Given the description of an element on the screen output the (x, y) to click on. 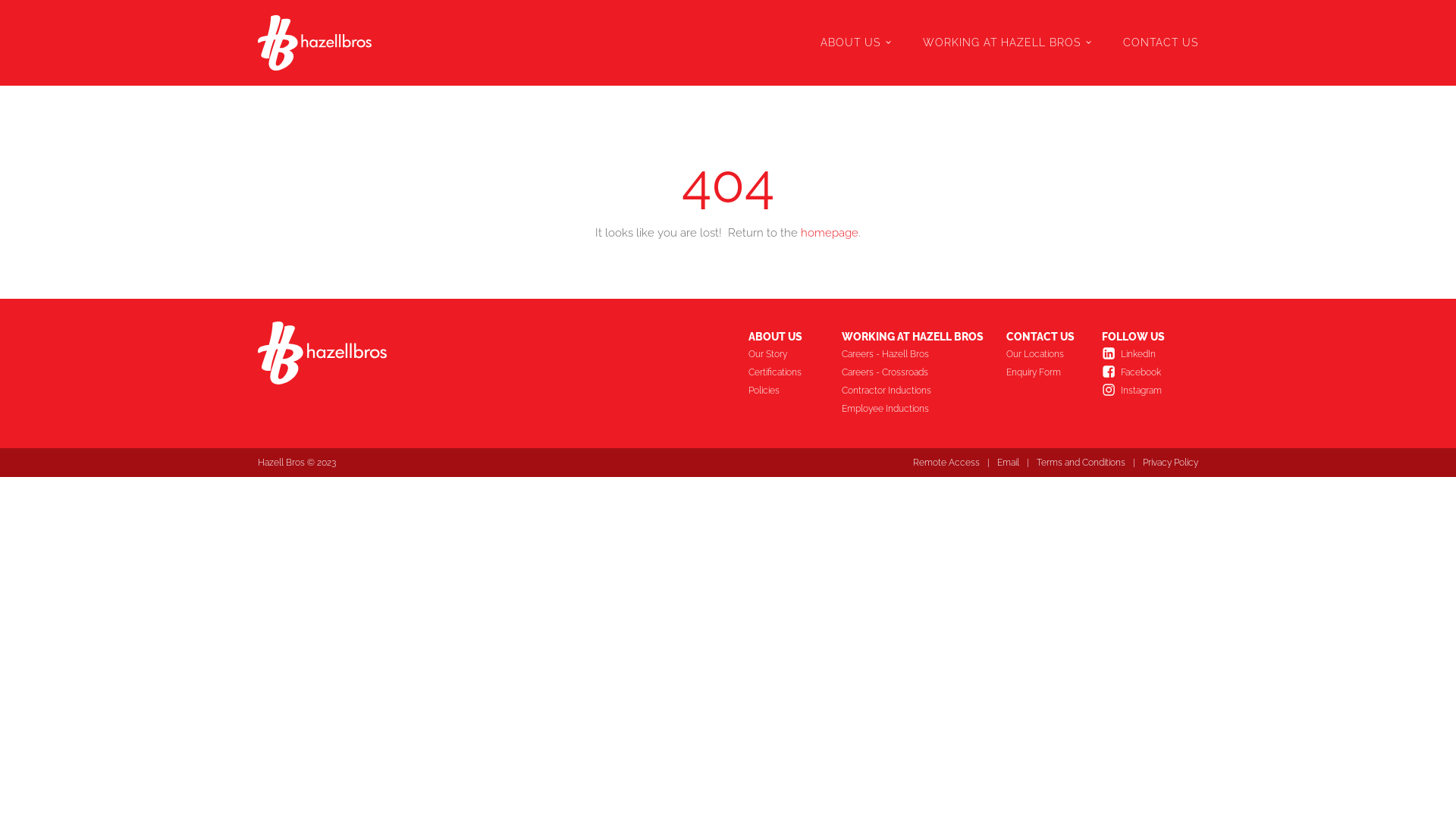
Remote Access Element type: text (946, 462)
Our Story Element type: text (775, 354)
Our Locations Element type: text (1042, 354)
Policies Element type: text (771, 390)
Enquiry Form Element type: text (1041, 372)
Email Element type: text (1008, 462)
WORKING AT HAZELL BROS Element type: text (1007, 42)
Facebook Element type: text (1148, 372)
Privacy Policy Element type: text (1170, 462)
Terms and Conditions Element type: text (1080, 462)
ABOUT US Element type: text (856, 42)
Certifications  Element type: text (783, 372)
CONTACT US Element type: text (1160, 42)
WORKING AT HAZELL BROS Element type: text (912, 337)
LinkedIn Element type: text (1145, 354)
homepage Element type: text (829, 232)
Careers - Hazell Bros Element type: text (892, 354)
Careers - Crossroads Element type: text (892, 372)
Instagram Element type: text (1148, 390)
Employee Inductions Element type: text (892, 408)
Contractor Inductions Element type: text (893, 390)
